Given the description of an element on the screen output the (x, y) to click on. 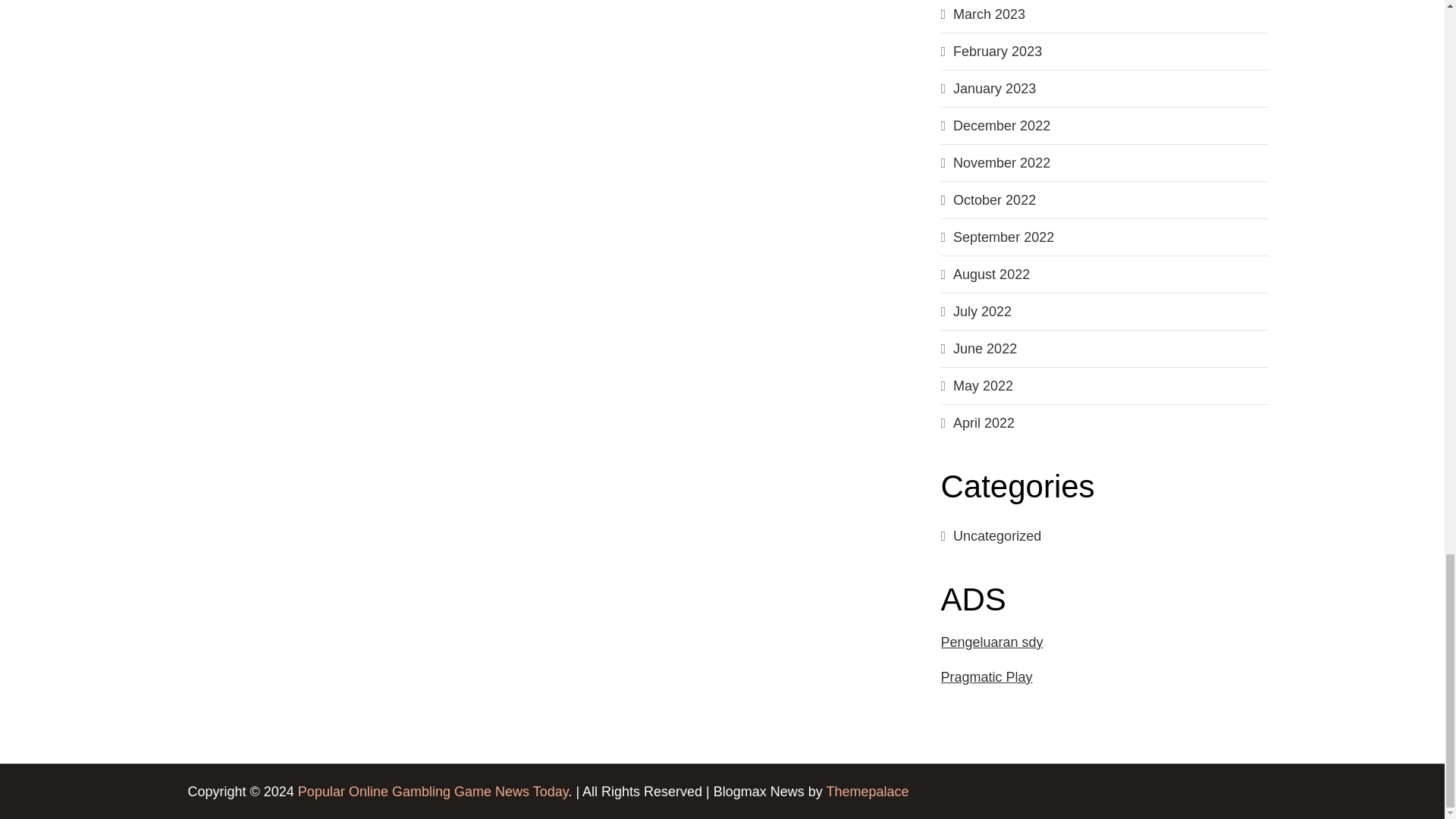
March 2023 (989, 14)
February 2023 (997, 51)
November 2022 (1001, 162)
December 2022 (1001, 125)
January 2023 (994, 88)
